Given the description of an element on the screen output the (x, y) to click on. 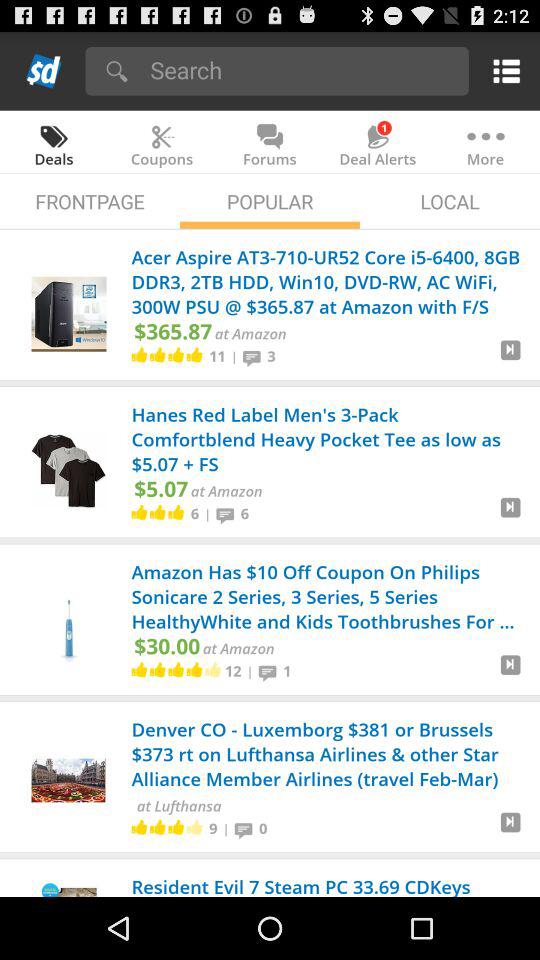
turn on the app next to the 9 app (225, 828)
